Given the description of an element on the screen output the (x, y) to click on. 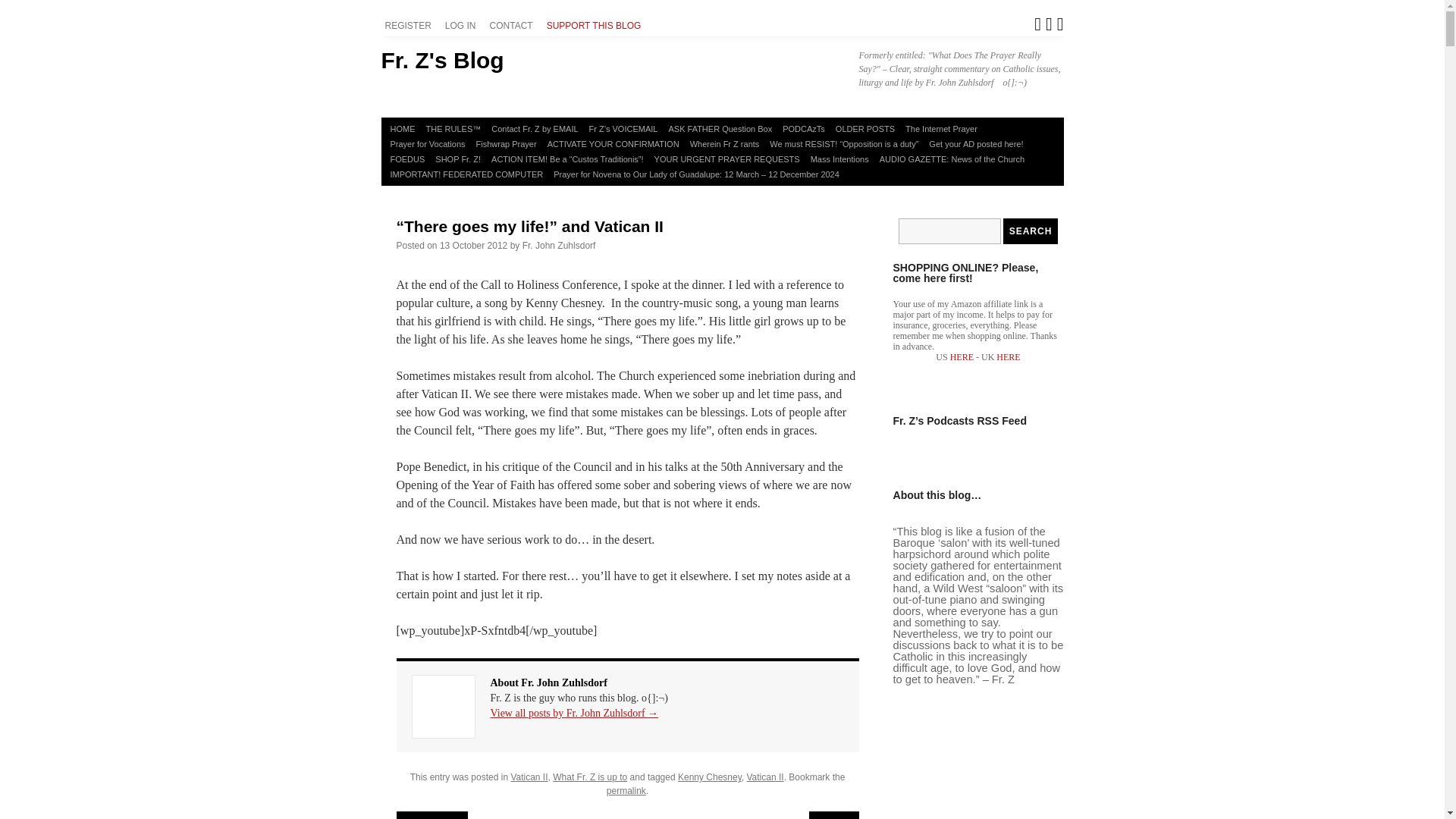
View all posts by Fr. John Zuhlsdorf (558, 245)
13 October 2012 (472, 245)
HOME (402, 128)
YOUR URGENT PRAYER REQUESTS (727, 159)
REGISTER (410, 25)
Fr. John Zuhlsdorf (558, 245)
Contact Fr. Z by EMAIL (534, 128)
Prayer for Vocations (427, 143)
ACTIVATE YOUR CONFIRMATION (612, 143)
OLDER POSTS (864, 128)
